Given the description of an element on the screen output the (x, y) to click on. 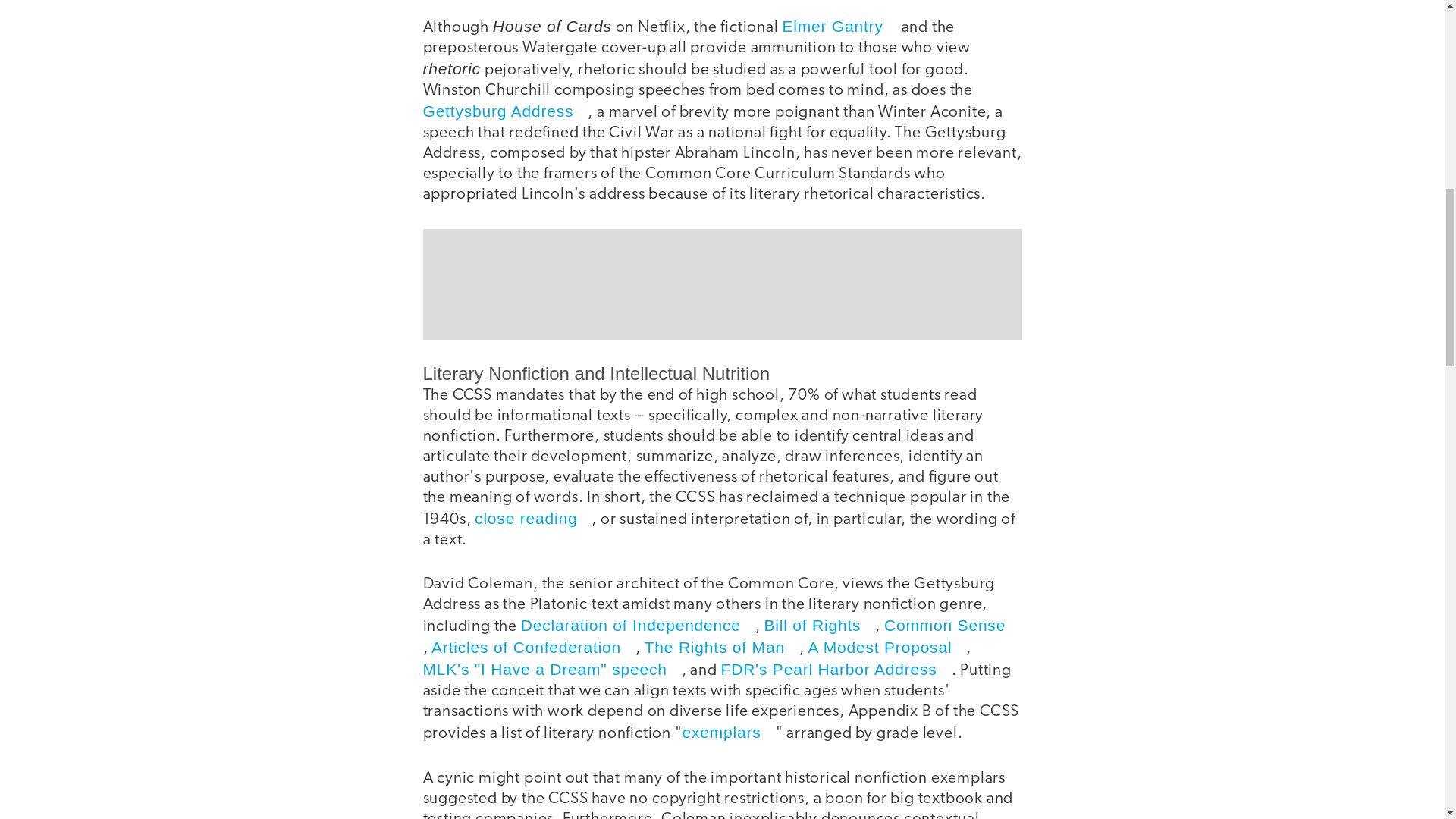
close reading (532, 518)
The Rights of Man (722, 647)
Declaration of Independence (638, 624)
MLK's "I Have a Dream" speech (552, 669)
Bill of Rights (818, 624)
Elmer Gantry (838, 26)
Articles of Confederation (532, 647)
A Modest Proposal (887, 647)
Common Sense (951, 624)
exemplars (729, 732)
